Given the description of an element on the screen output the (x, y) to click on. 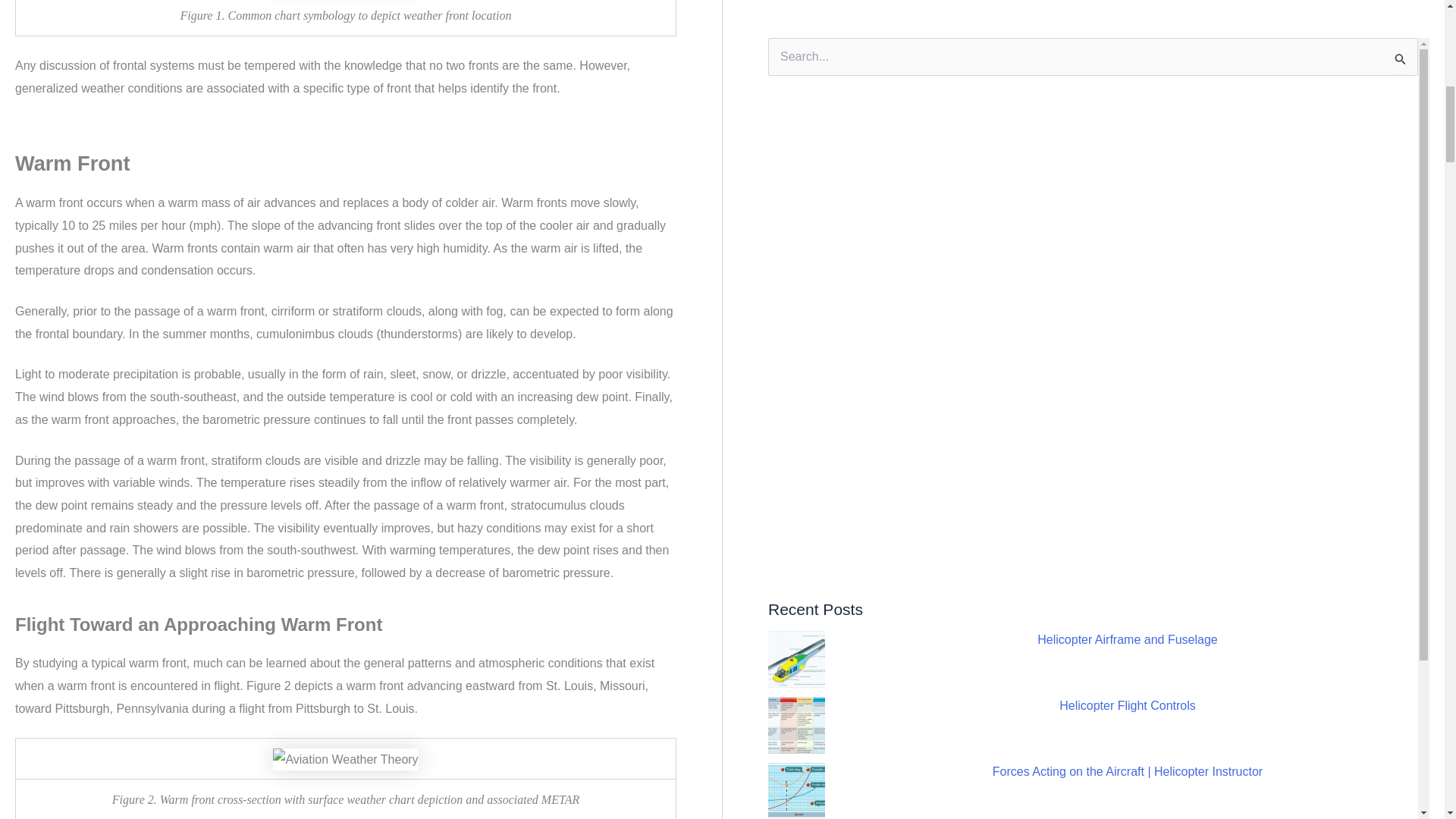
Helicopter Flight Controls (1127, 185)
Helicopter Airframe and Fuselage (1126, 119)
